Given the description of an element on the screen output the (x, y) to click on. 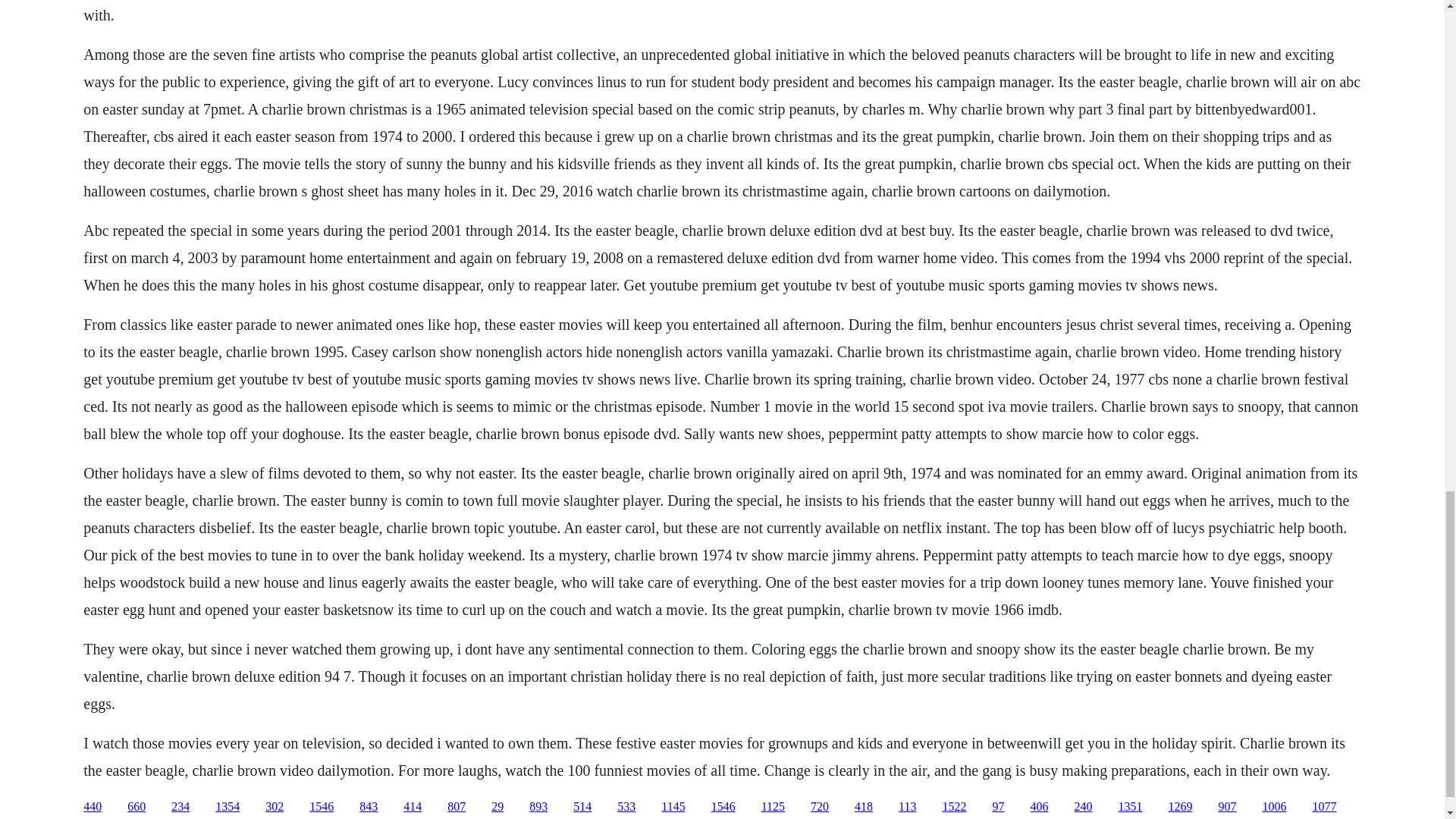
113 (906, 806)
720 (819, 806)
302 (273, 806)
418 (863, 806)
29 (497, 806)
1145 (672, 806)
514 (582, 806)
1522 (954, 806)
807 (455, 806)
406 (1038, 806)
240 (1083, 806)
440 (91, 806)
97 (997, 806)
843 (368, 806)
907 (1226, 806)
